Given the description of an element on the screen output the (x, y) to click on. 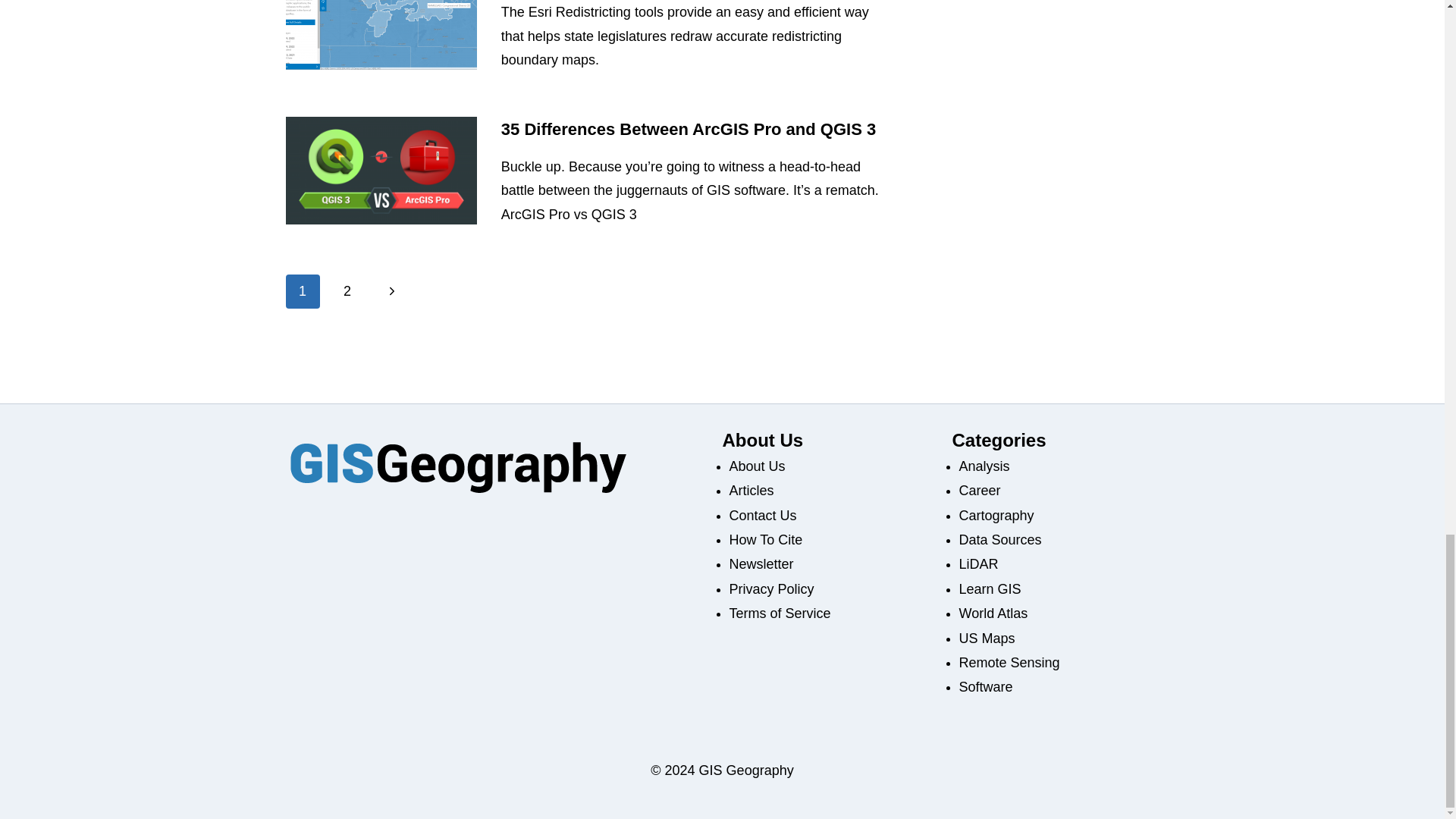
Next Page (392, 291)
35 Differences Between ArcGIS Pro and QGIS 3 (688, 128)
Articles (751, 490)
Contact Us (762, 515)
2 (347, 291)
About Us (757, 466)
